Given the description of an element on the screen output the (x, y) to click on. 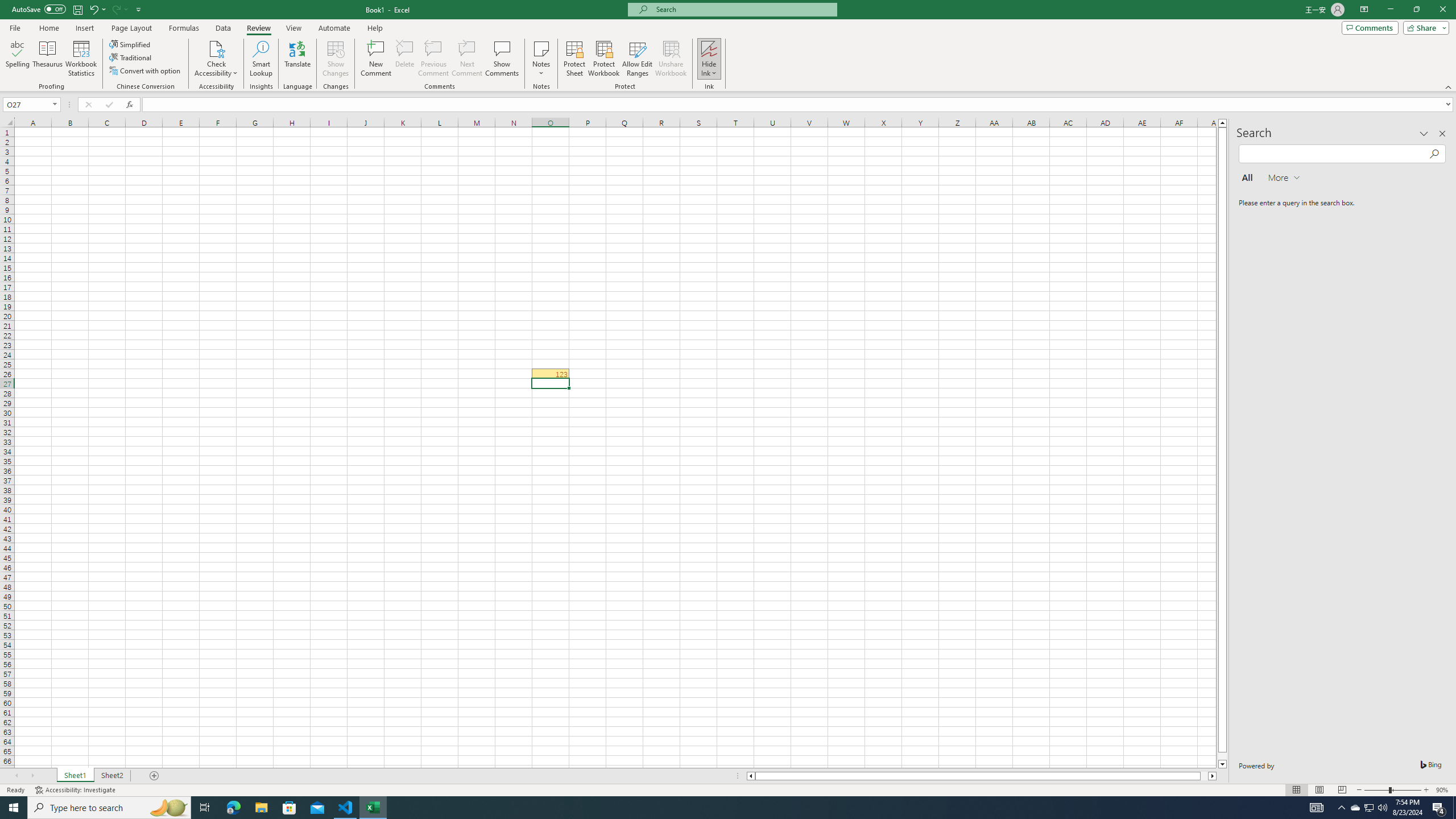
Thesaurus... (47, 58)
Protect Sheet... (574, 58)
